Given the description of an element on the screen output the (x, y) to click on. 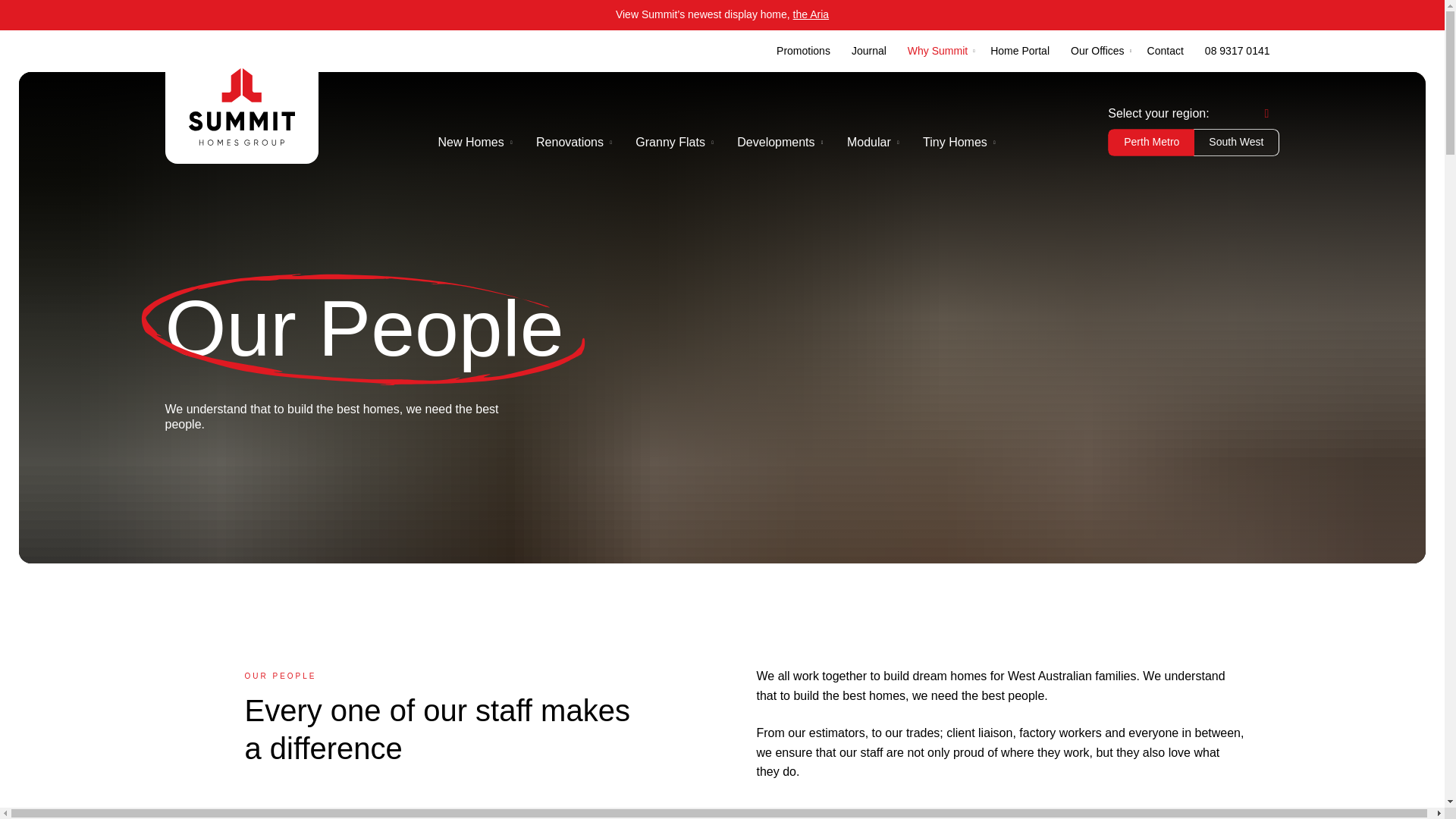
Home Portal (1019, 51)
Why Summit (937, 51)
Contact (1165, 51)
Journal (868, 51)
08 9317 0141 (1237, 51)
Our Offices (1097, 51)
the Aria (810, 14)
Promotions (803, 51)
New Homes (471, 142)
Renovations (569, 142)
